Given the description of an element on the screen output the (x, y) to click on. 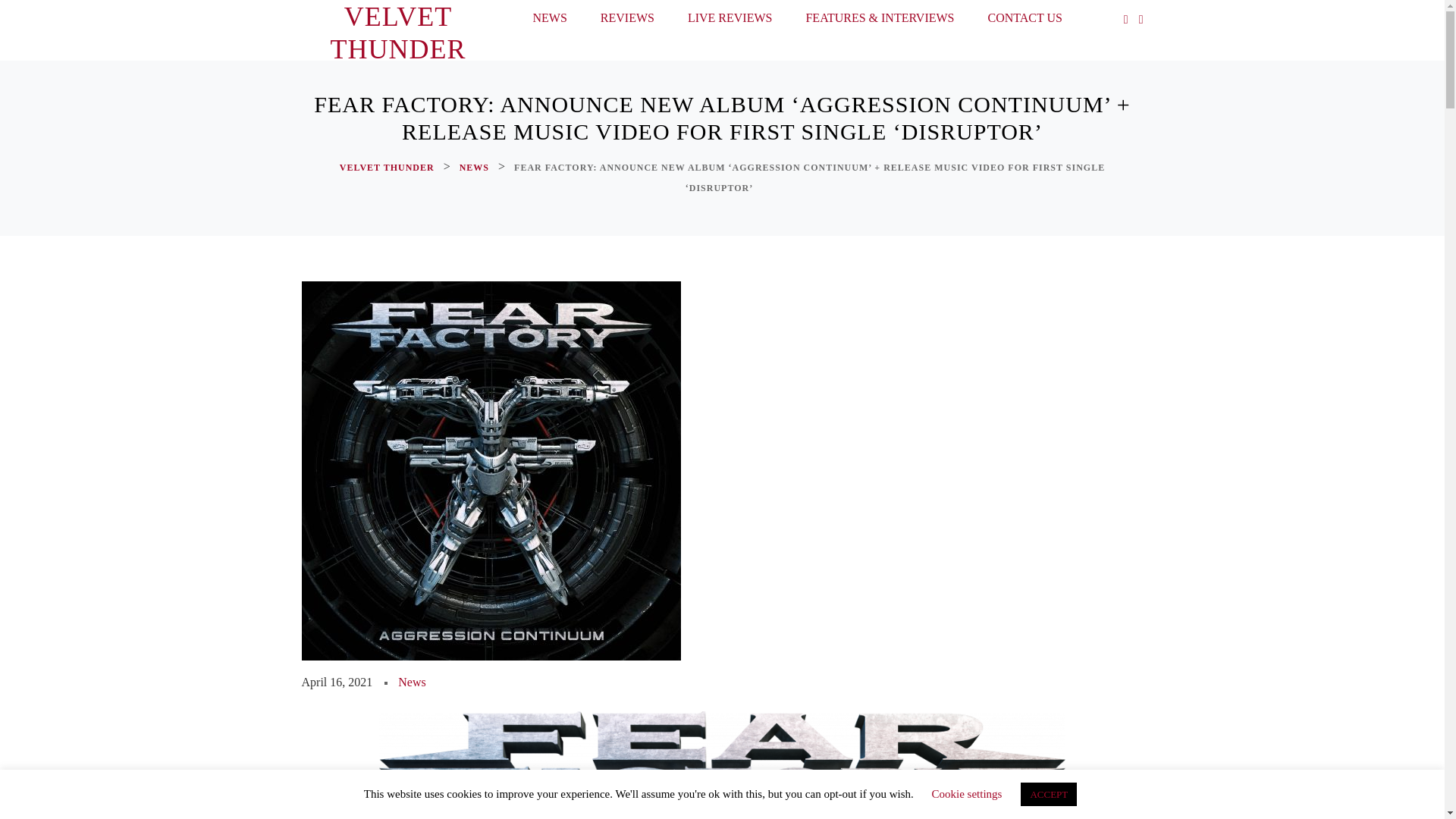
VELVET THUNDER (388, 167)
REVIEWS (627, 21)
News (411, 682)
Go to the News Category archives. (476, 167)
Go to VELVET THUNDER. (388, 167)
CONTACT US (1024, 21)
LIVE REVIEWS (729, 21)
NEWS (548, 21)
VELVET THUNDER (398, 33)
NEWS (476, 167)
